Given the description of an element on the screen output the (x, y) to click on. 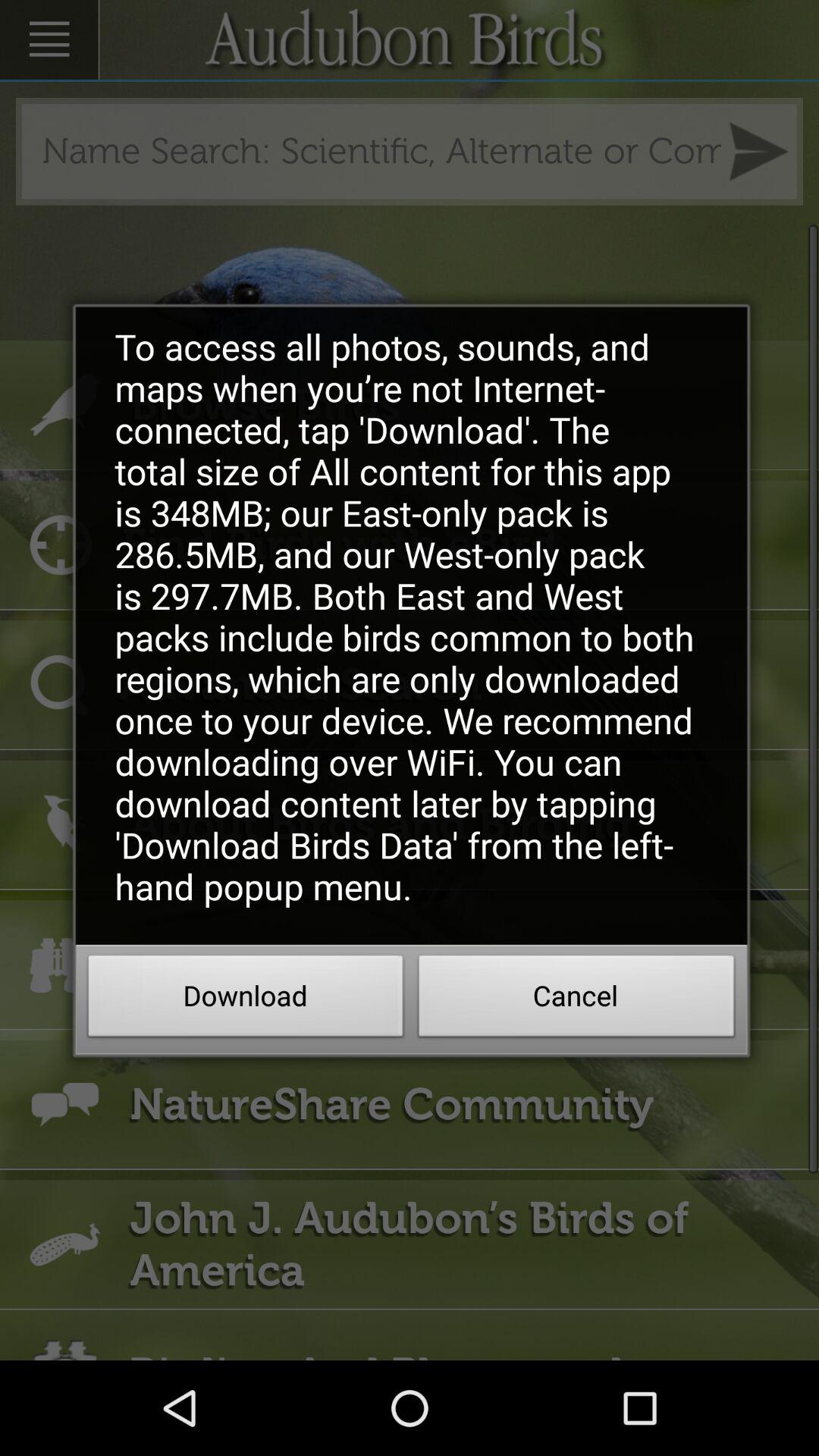
turn off the item to the right of download icon (576, 1000)
